Given the description of an element on the screen output the (x, y) to click on. 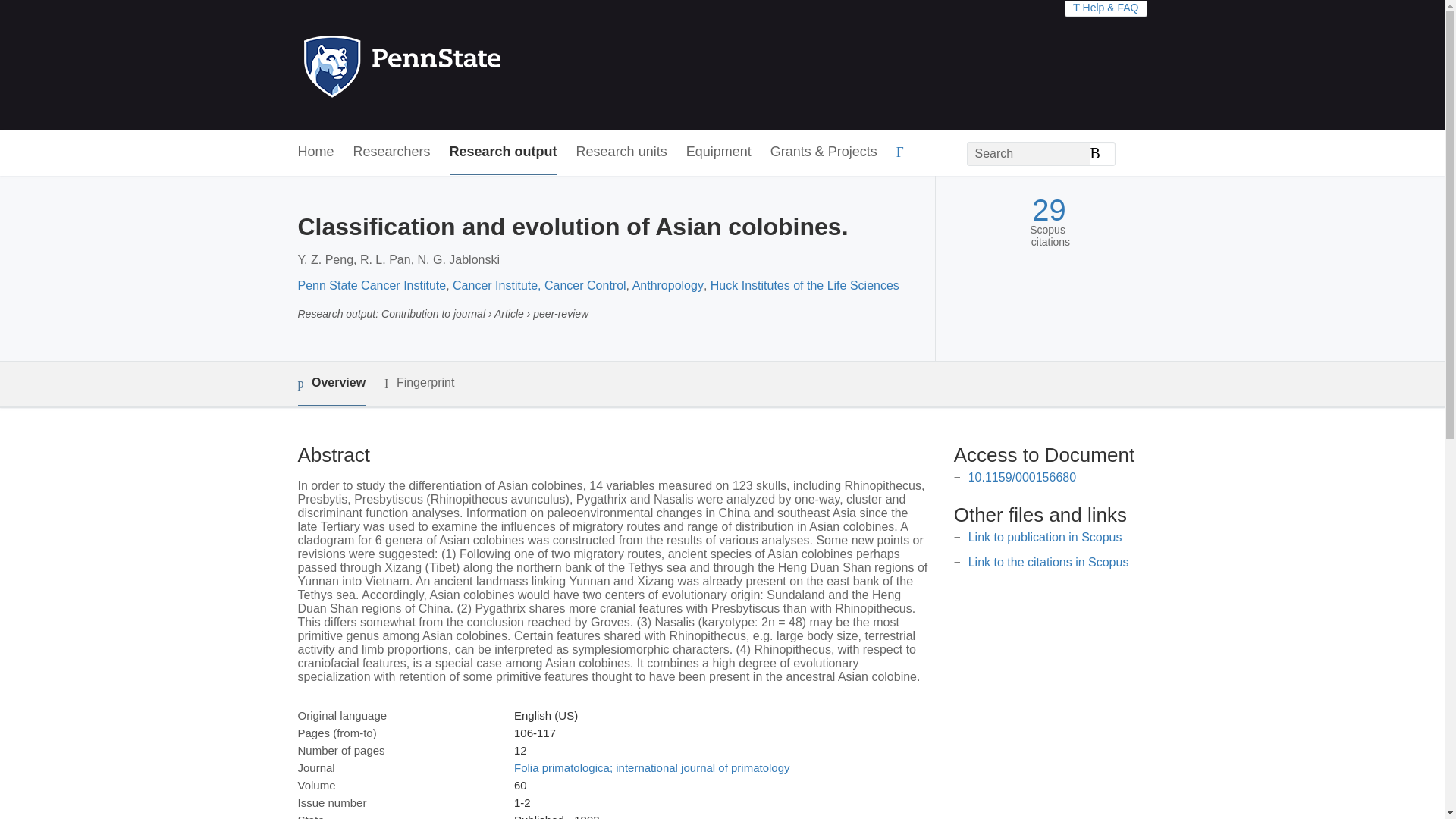
Penn State Cancer Institute (371, 285)
Penn State Home (467, 65)
Equipment (718, 152)
Researchers (391, 152)
Folia primatologica; international journal of primatology (651, 767)
Link to the citations in Scopus (1048, 562)
Anthropology (667, 285)
Research output (503, 152)
Overview (331, 383)
Cancer Institute, Cancer Control (539, 285)
